Given the description of an element on the screen output the (x, y) to click on. 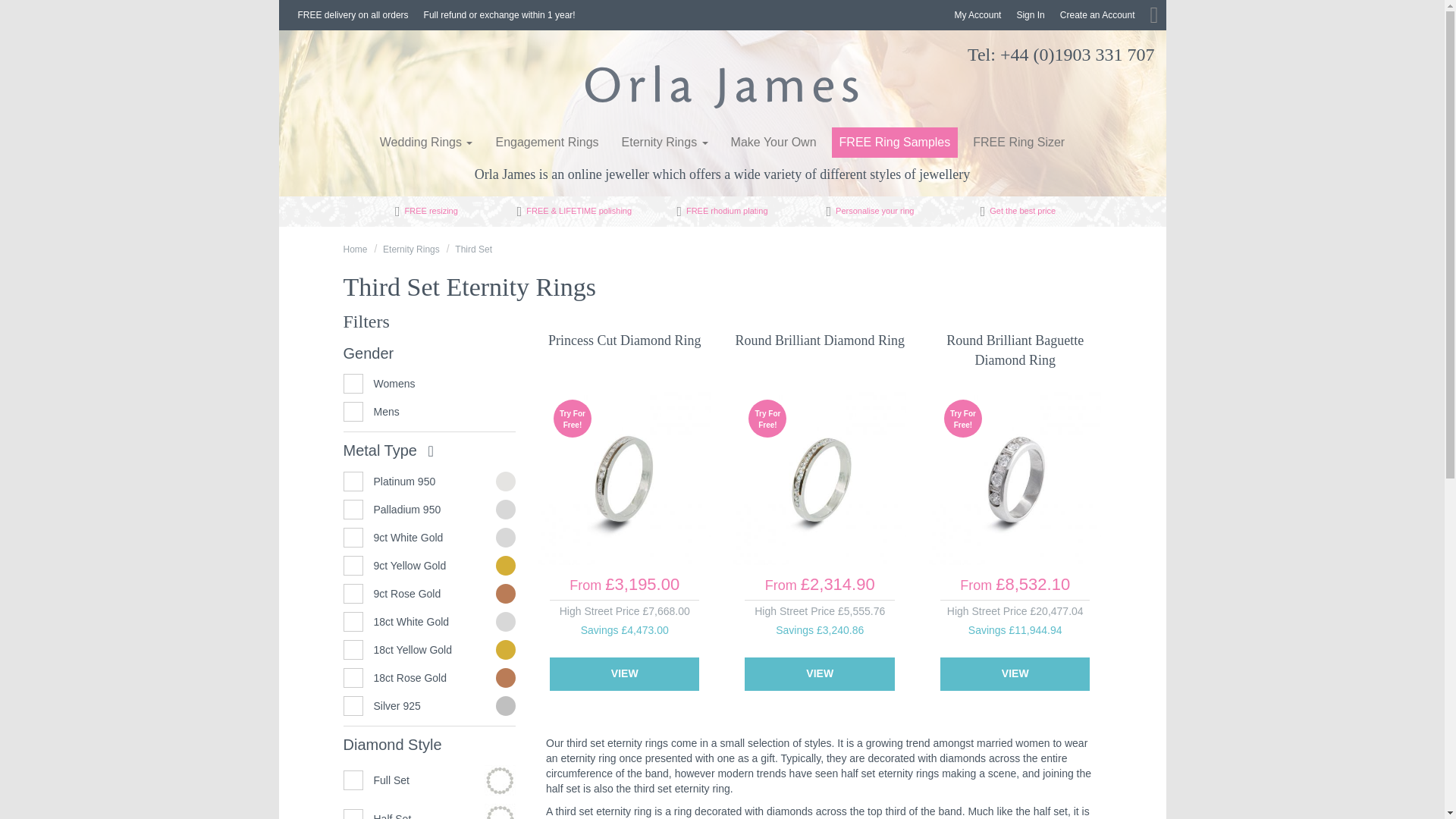
9ct Yellow Gold Eternity Rings (428, 565)
Palladium 950 Eternity Rings (428, 509)
Third Set (473, 249)
Create an Account (1097, 15)
Mens Eternity Rings (428, 411)
Engagement Rings (546, 142)
9ct White Gold Eternity Rings (428, 537)
18ct White Gold Eternity Rings (428, 621)
Wedding Rings (426, 142)
Go to Home Page (354, 249)
